Given the description of an element on the screen output the (x, y) to click on. 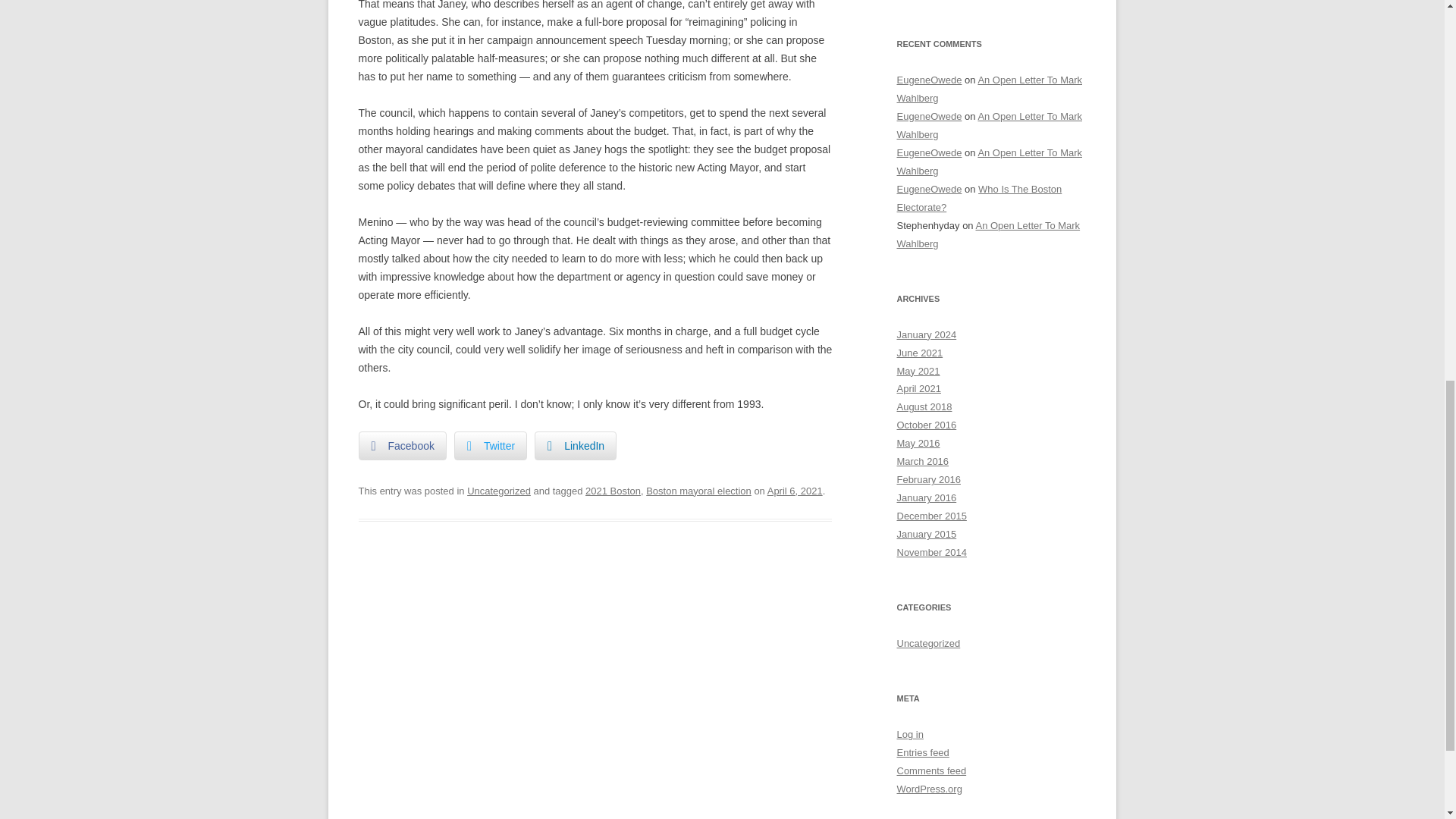
LinkedIn (574, 445)
January 2024 (926, 334)
EugeneOwede (928, 79)
Who Is The Boston Electorate? (978, 197)
April 6, 2021 (794, 490)
June 2021 (919, 352)
EugeneOwede (928, 152)
Twitter (490, 445)
August 2018 (924, 406)
October 2016 (926, 424)
